Given the description of an element on the screen output the (x, y) to click on. 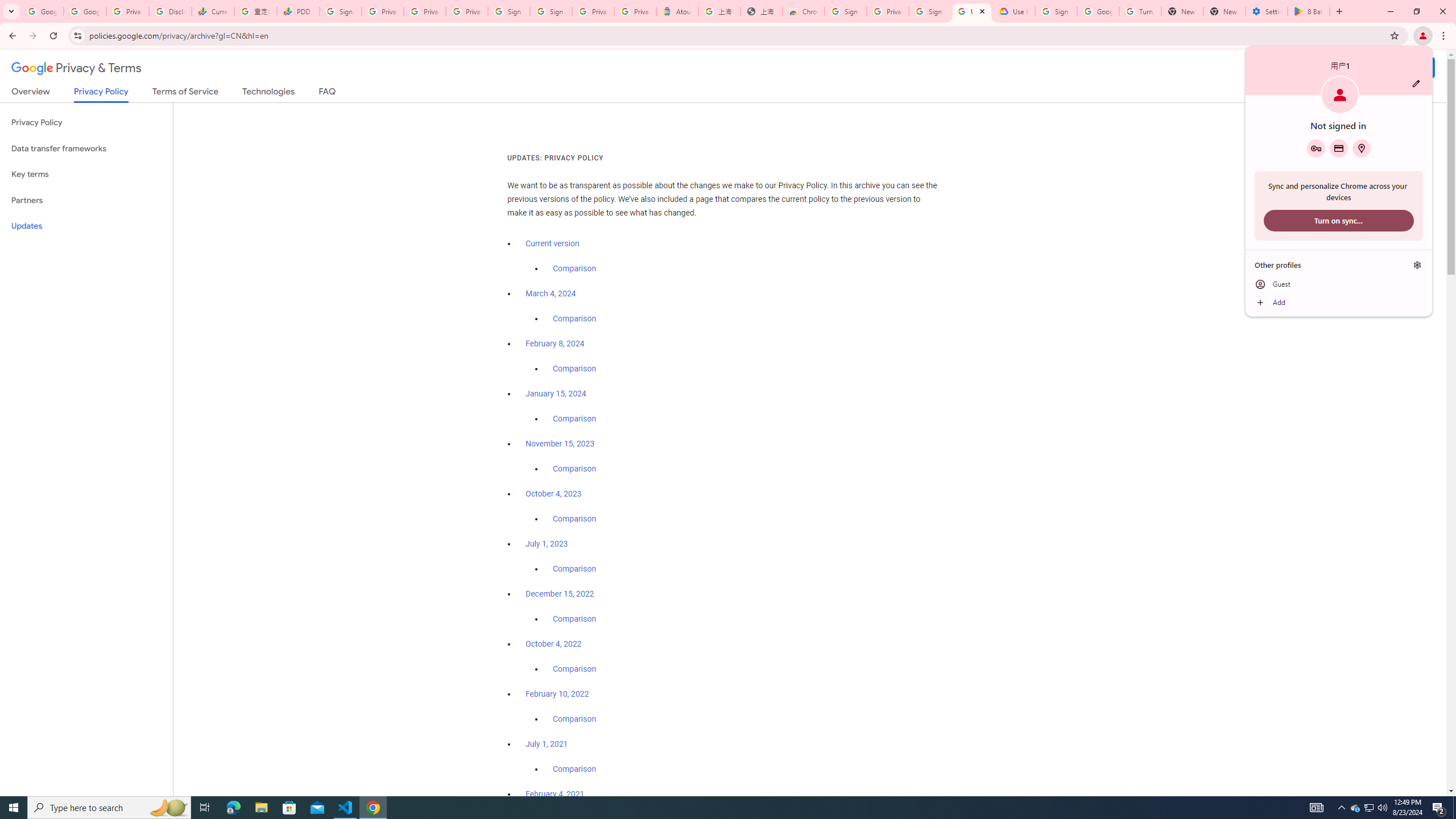
January 15, 2024 (555, 394)
Search highlights icon opens search home window (167, 807)
Comparison (574, 768)
Sign in - Google Accounts (1355, 807)
Privacy Checkup (550, 11)
Partners (424, 11)
Add (86, 199)
Microsoft Edge (1338, 302)
User Promoted Notification Area (233, 807)
